Given the description of an element on the screen output the (x, y) to click on. 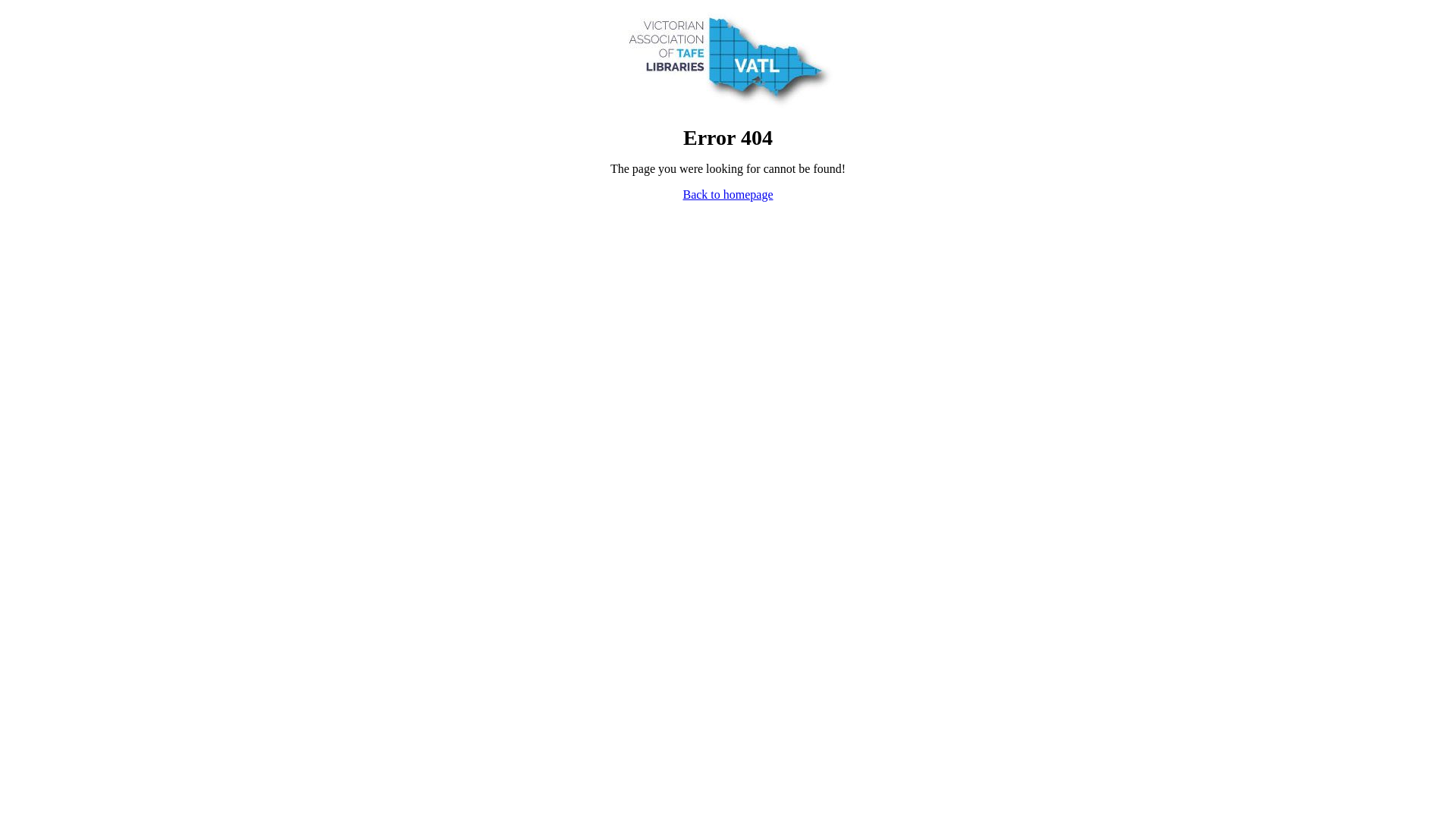
Back to homepage Element type: text (727, 194)
Victorian Association of TAFE Libraries -  Element type: hover (727, 106)
